Given the description of an element on the screen output the (x, y) to click on. 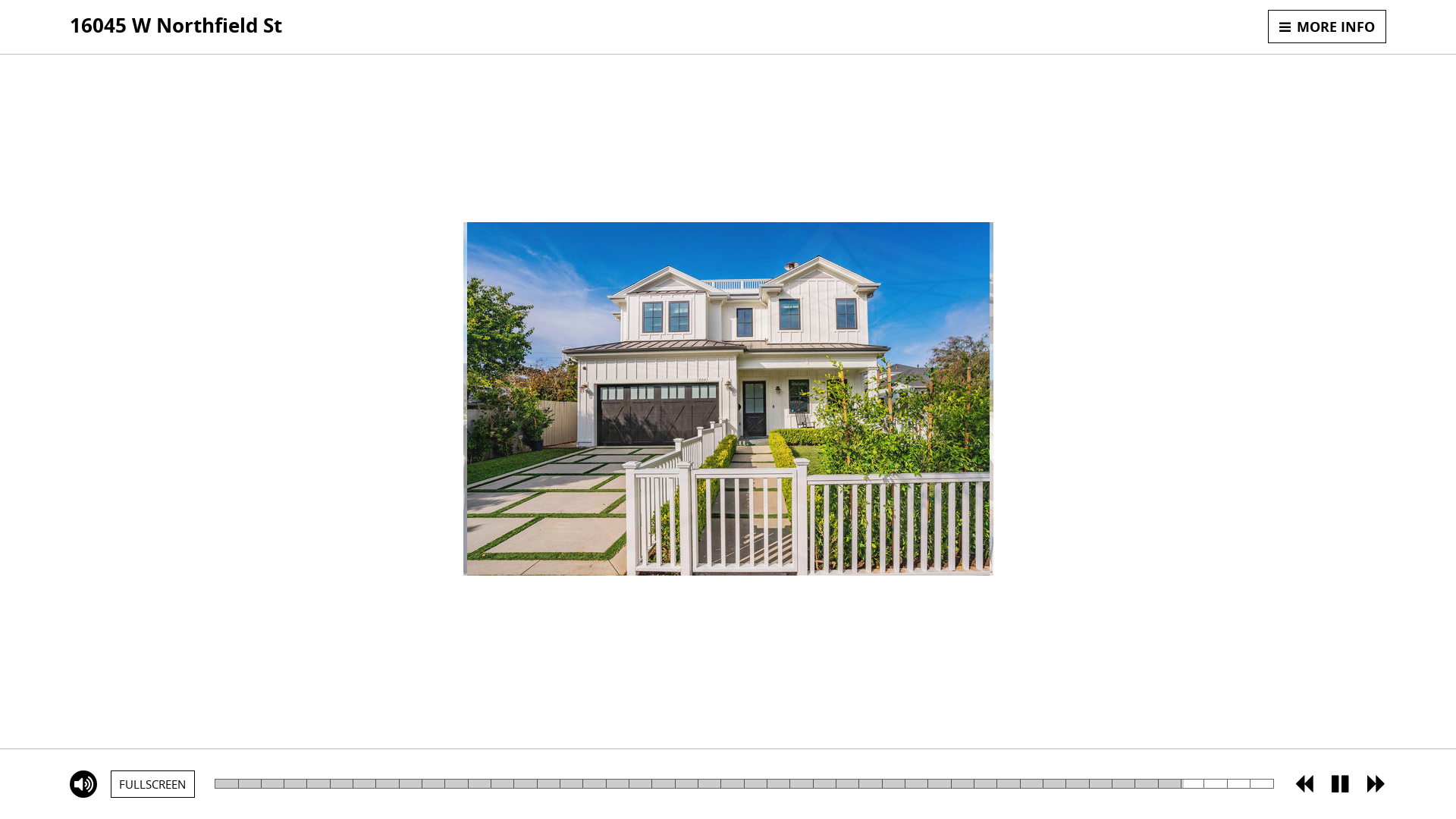
MORE INFO Element type: text (1326, 26)
